Given the description of an element on the screen output the (x, y) to click on. 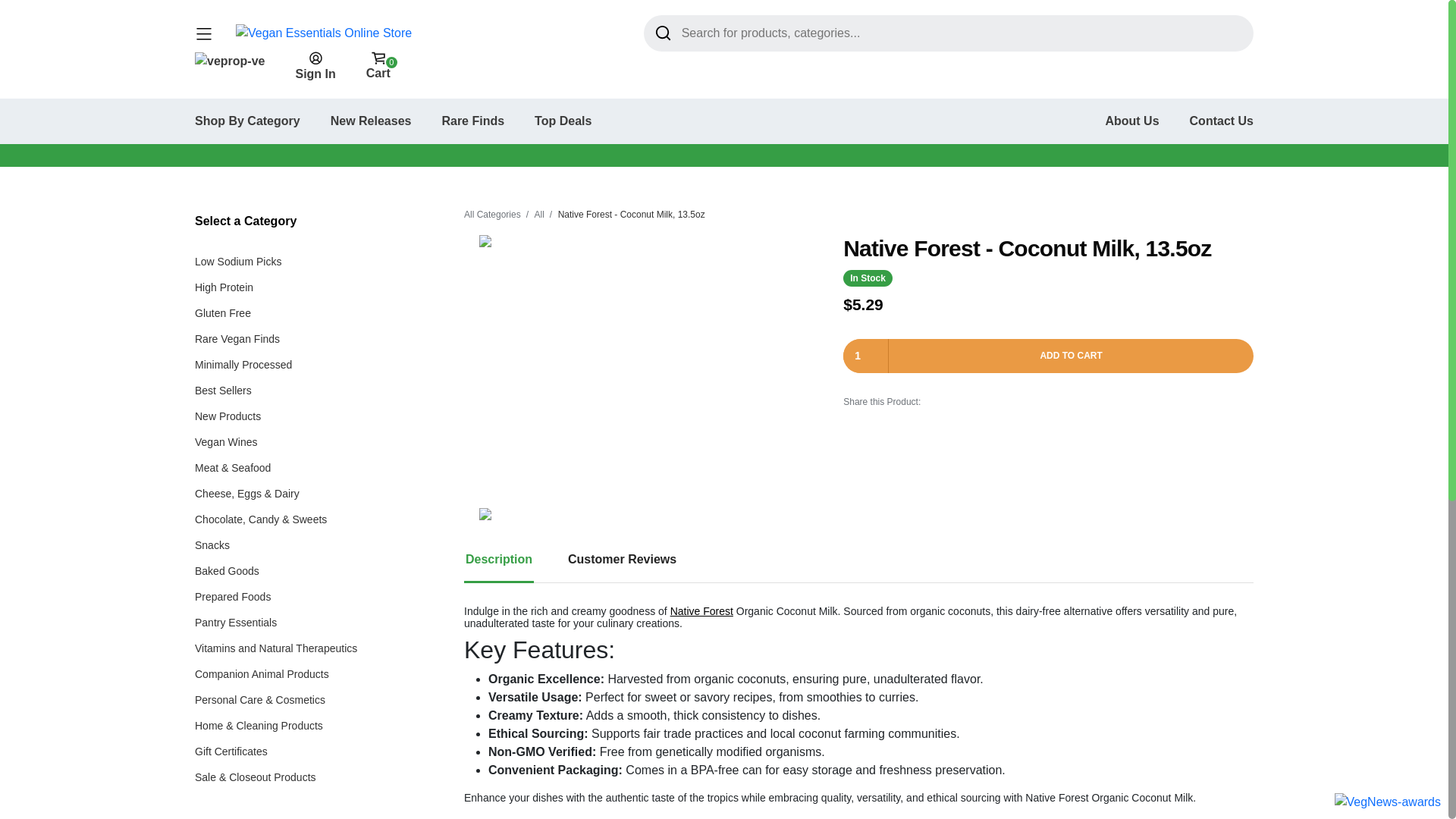
About Us (1131, 120)
Contact Us (1221, 120)
Top Deals (562, 120)
Low Sodium Picks (238, 261)
Minimally Processed (243, 364)
Rare Finds (472, 120)
Sign In (314, 65)
Rare Vegan Finds (237, 338)
Gluten Free (378, 65)
Shop By Category (222, 313)
High Protein (247, 120)
New Releases (224, 287)
Best Sellers (371, 120)
